Given the description of an element on the screen output the (x, y) to click on. 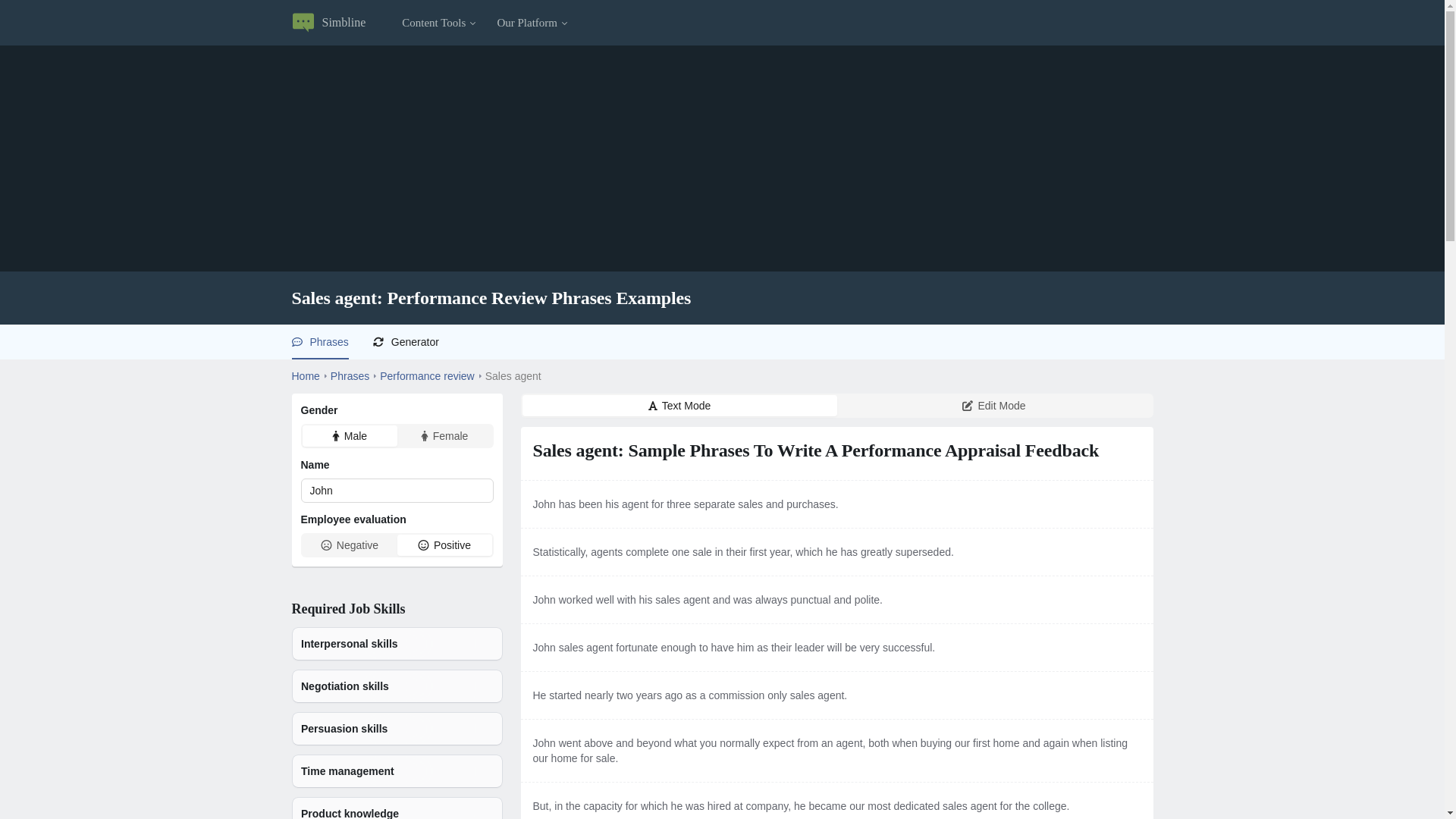
Simbline (328, 22)
John (396, 490)
Generator (415, 341)
Performance review (427, 376)
Phrases (327, 341)
Content Tools (440, 22)
Our Platform (533, 22)
Negotiation skills (396, 685)
Time management (396, 770)
